Given the description of an element on the screen output the (x, y) to click on. 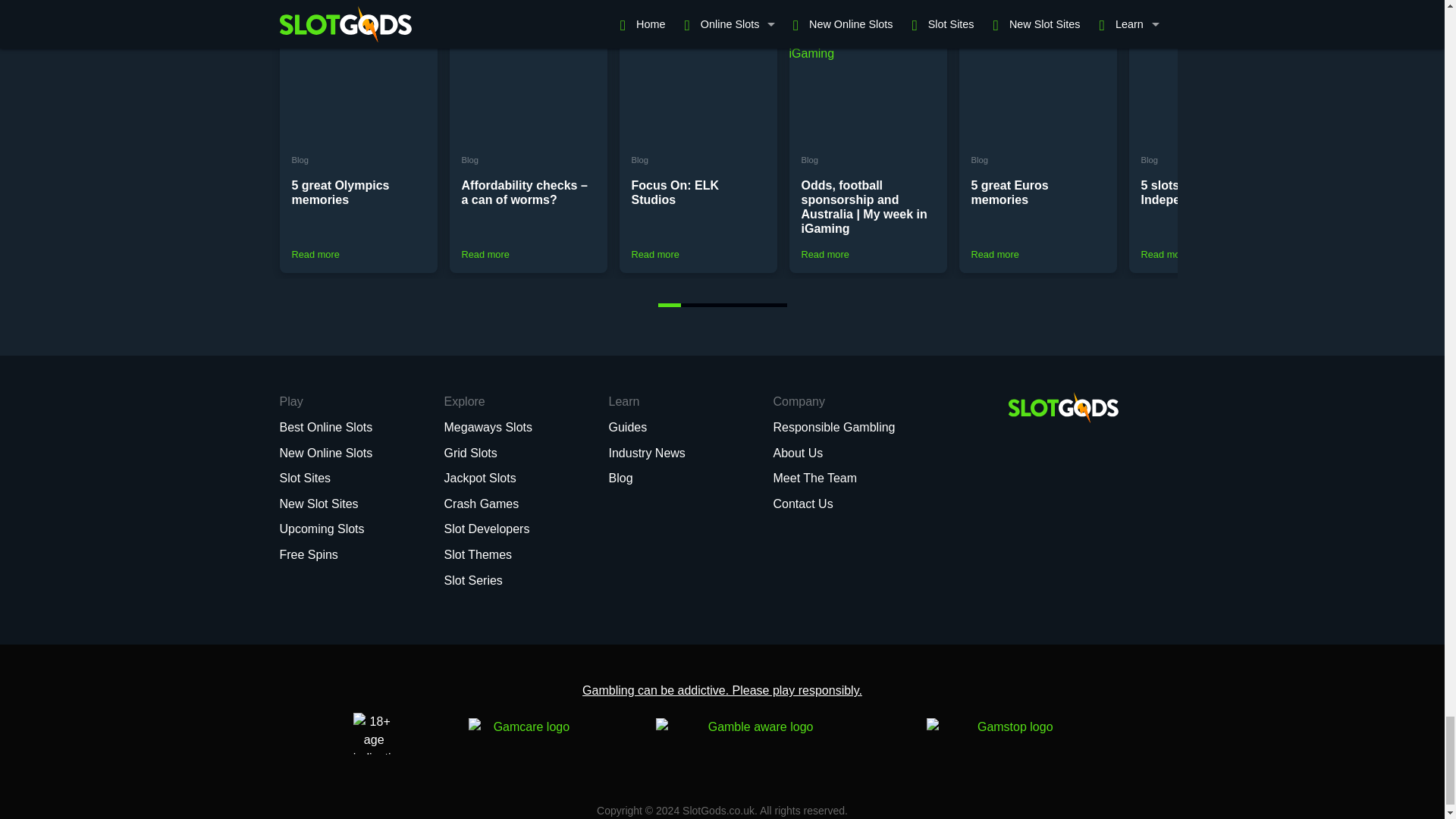
Gamble Aware (754, 733)
GamStop: Free online self-exclusion (1008, 733)
Gamcare (525, 733)
